Given the description of an element on the screen output the (x, y) to click on. 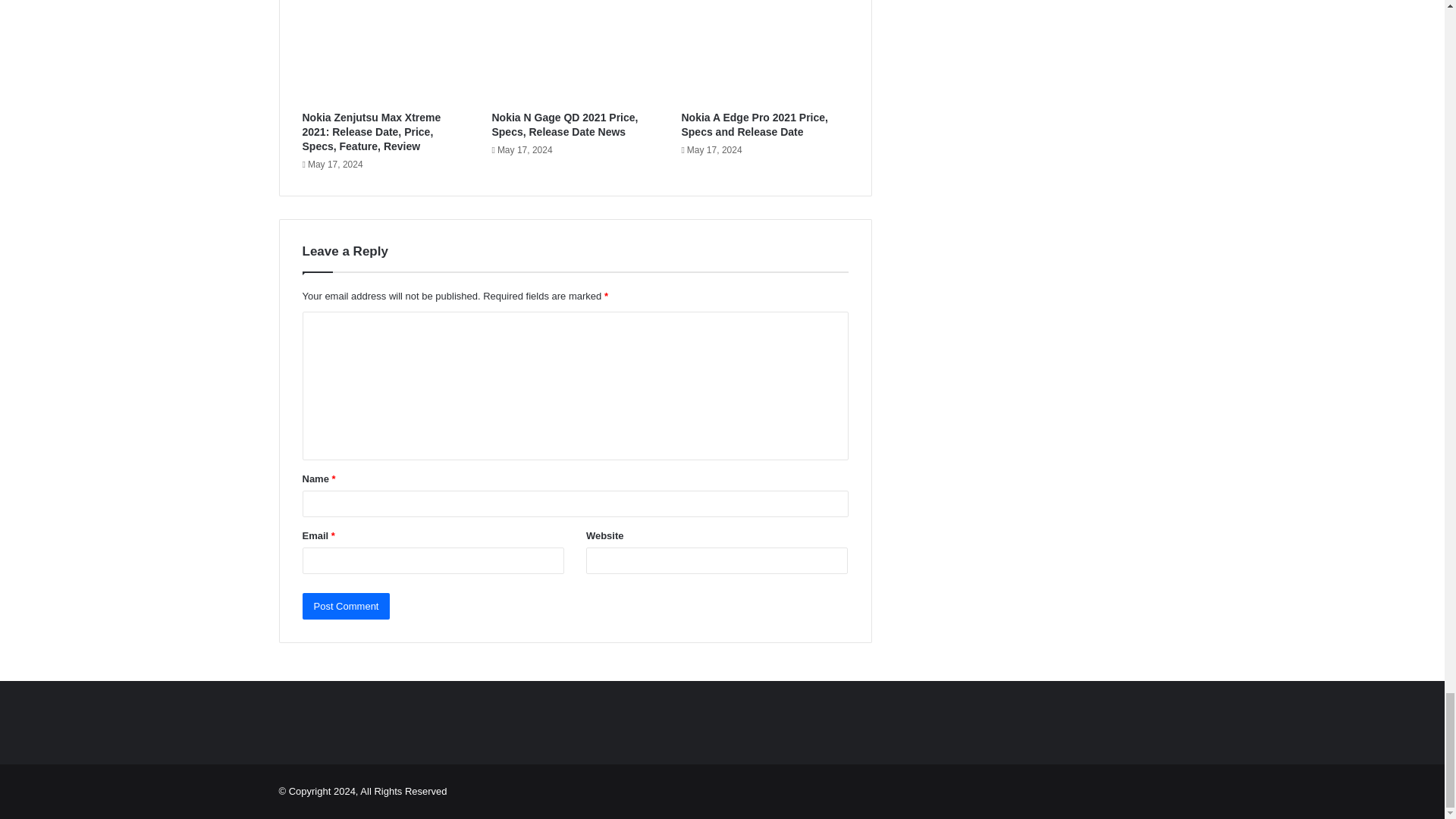
Nokia A Edge Pro 2021 Price, Specs and Release Date (754, 124)
Nokia N Gage QD 2021 Price, Specs, Release Date News (564, 124)
Post Comment (345, 605)
Post Comment (345, 605)
